Given the description of an element on the screen output the (x, y) to click on. 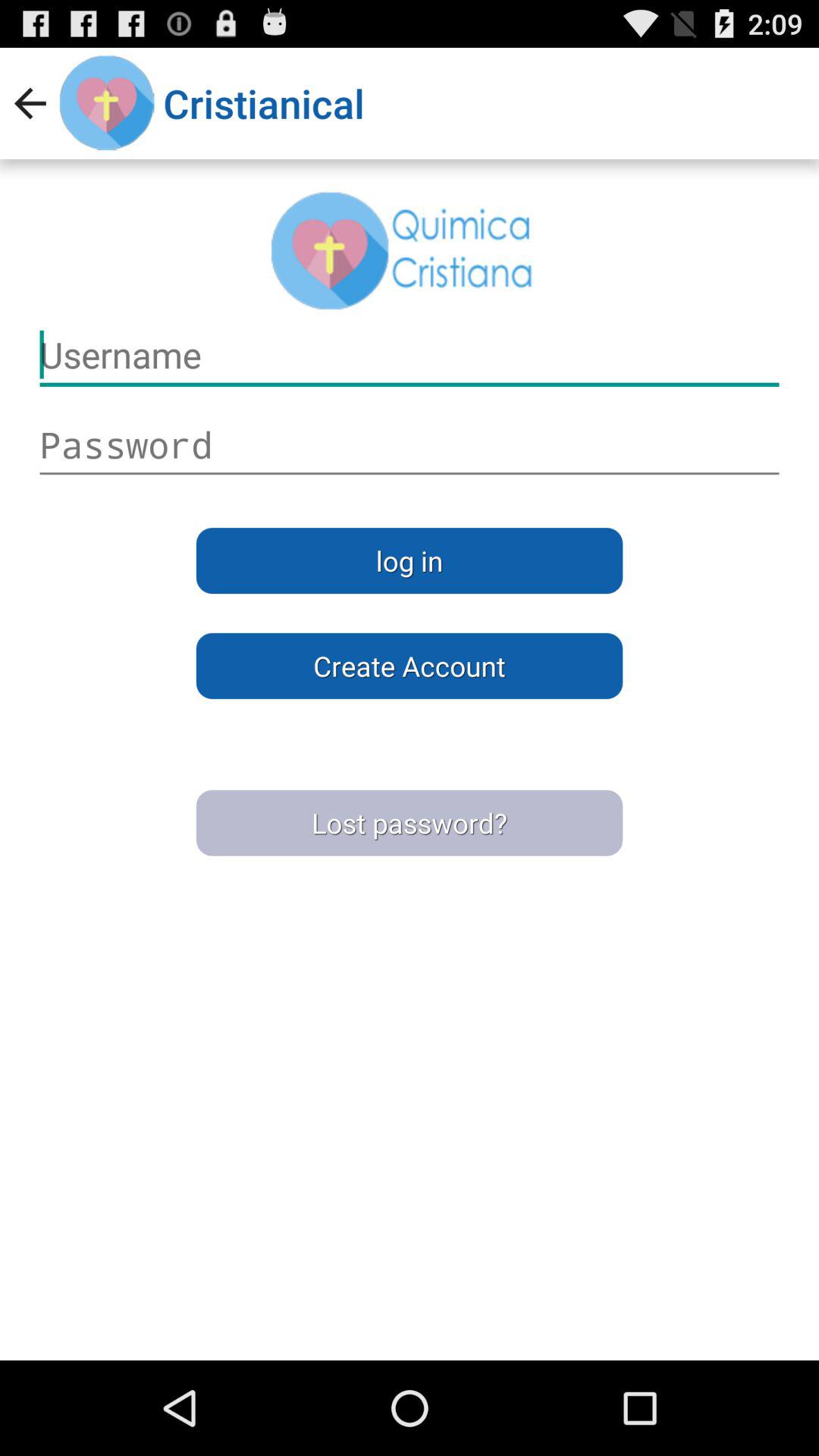
turn on the log in (409, 560)
